Given the description of an element on the screen output the (x, y) to click on. 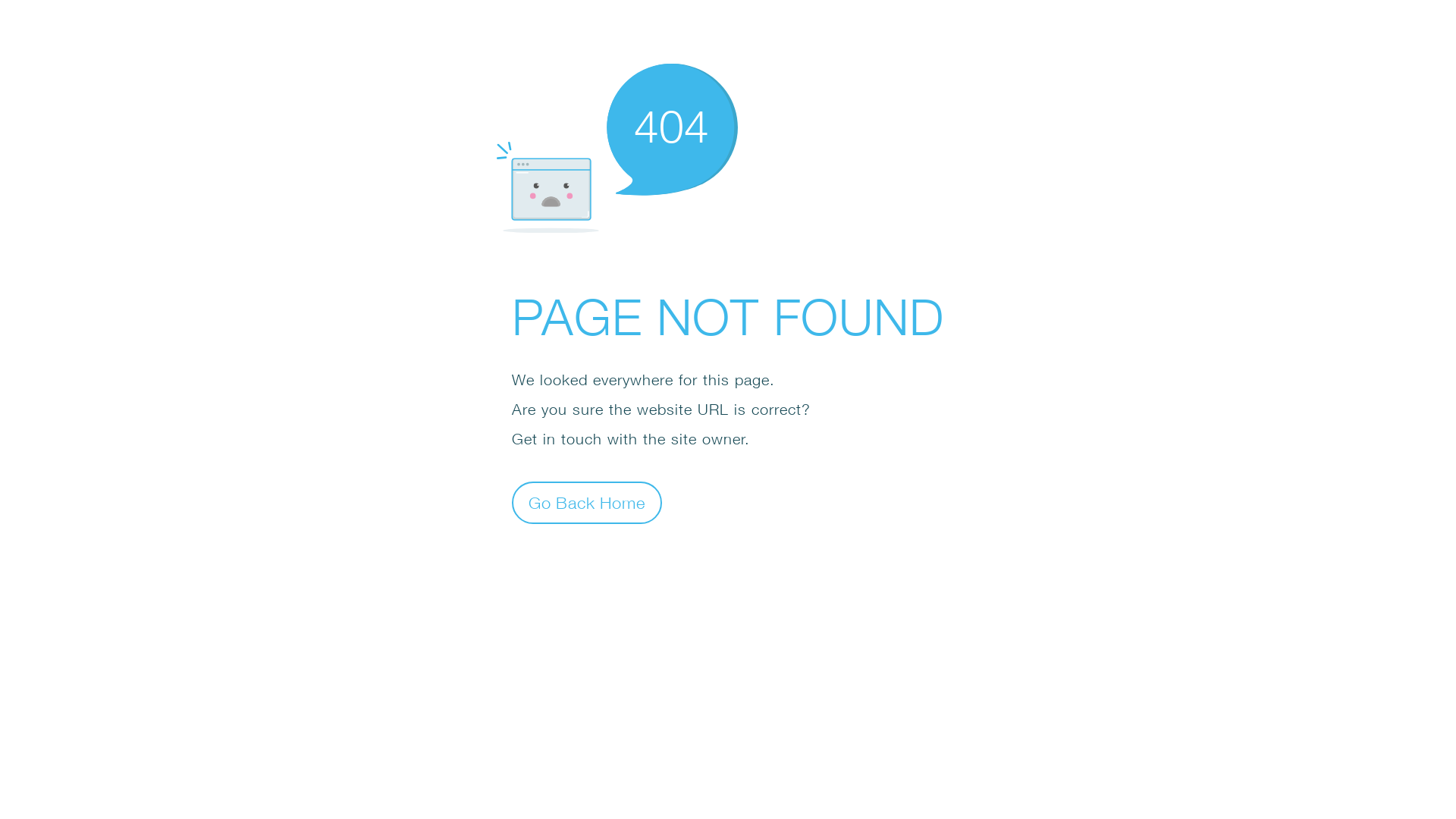
Go Back Home Element type: text (586, 502)
